Given the description of an element on the screen output the (x, y) to click on. 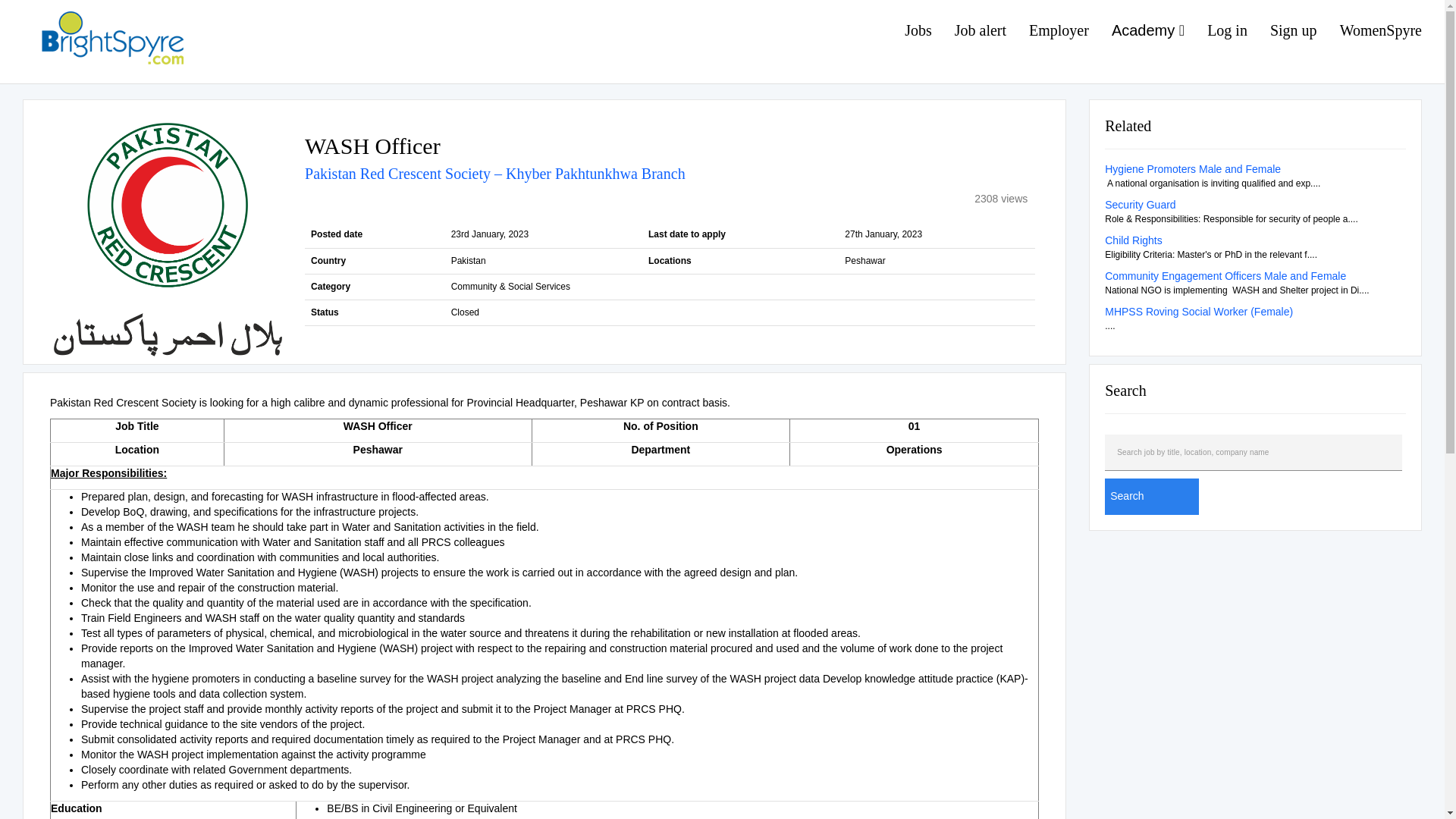
WomenSpyre (1379, 30)
Job alert (980, 30)
Search latest job in Pakistan (1151, 496)
Child Rights (1133, 240)
Employer (1058, 30)
Search (1151, 496)
Sign up (1293, 30)
Security Guard (1139, 204)
Jobs (918, 30)
Community (1379, 30)
